Given the description of an element on the screen output the (x, y) to click on. 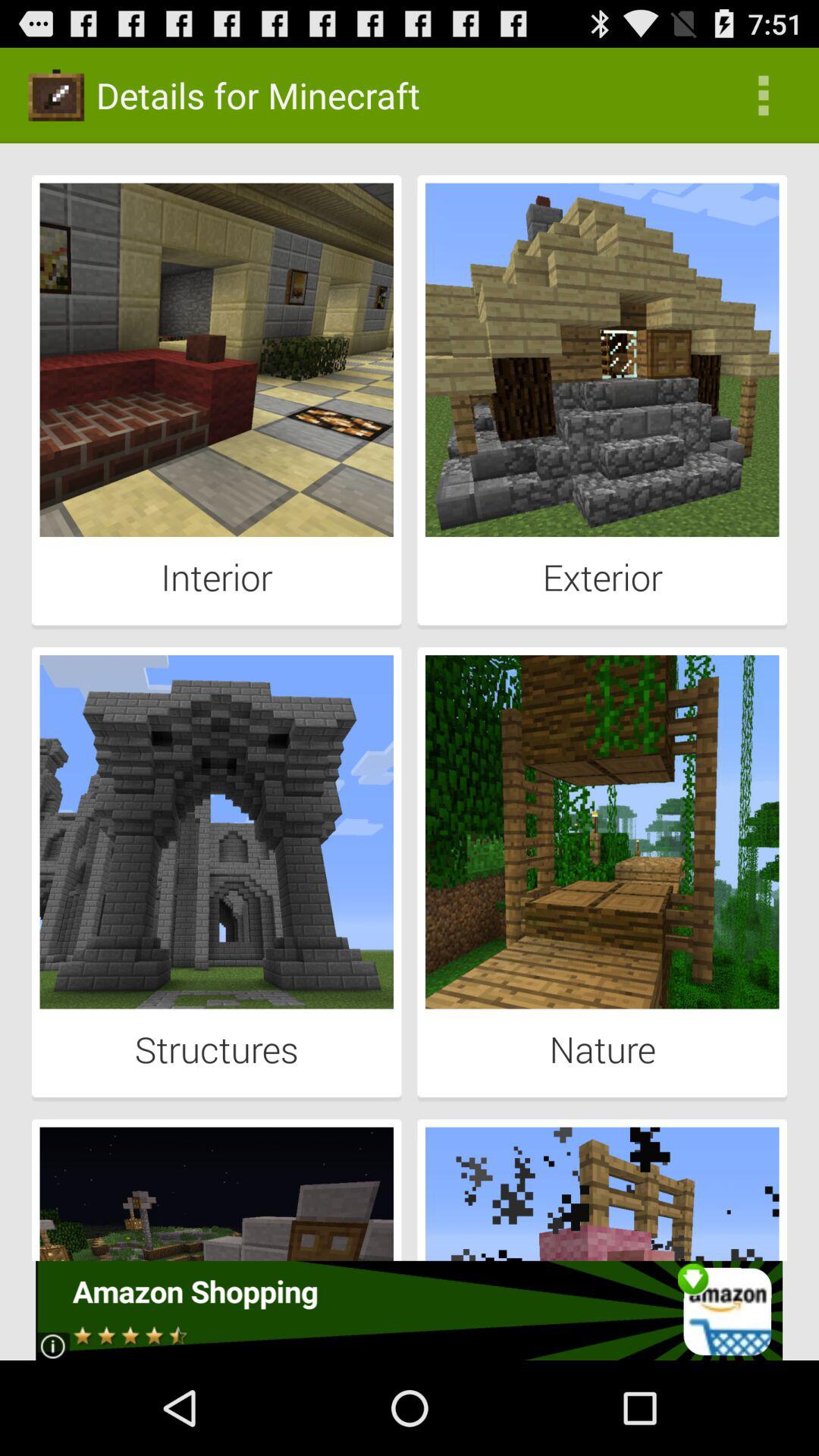
this page in add (408, 1310)
